Given the description of an element on the screen output the (x, y) to click on. 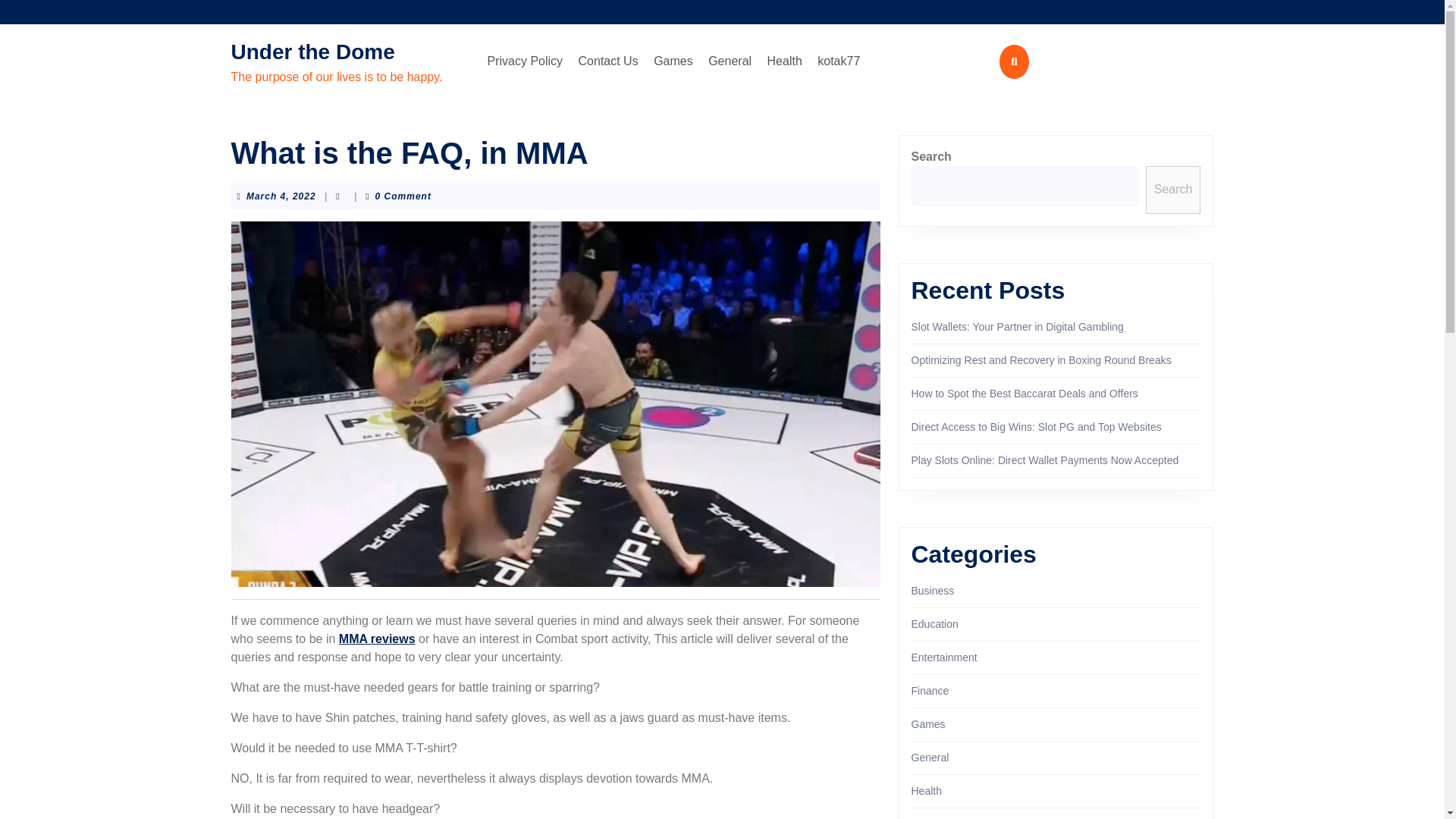
General (729, 60)
Contact Us (608, 60)
Direct Access to Big Wins: Slot PG and Top Websites (1036, 426)
Health (280, 195)
Finance (784, 60)
General (930, 690)
How to Spot the Best Baccarat Deals and Offers (930, 757)
Education (1024, 393)
